Given the description of an element on the screen output the (x, y) to click on. 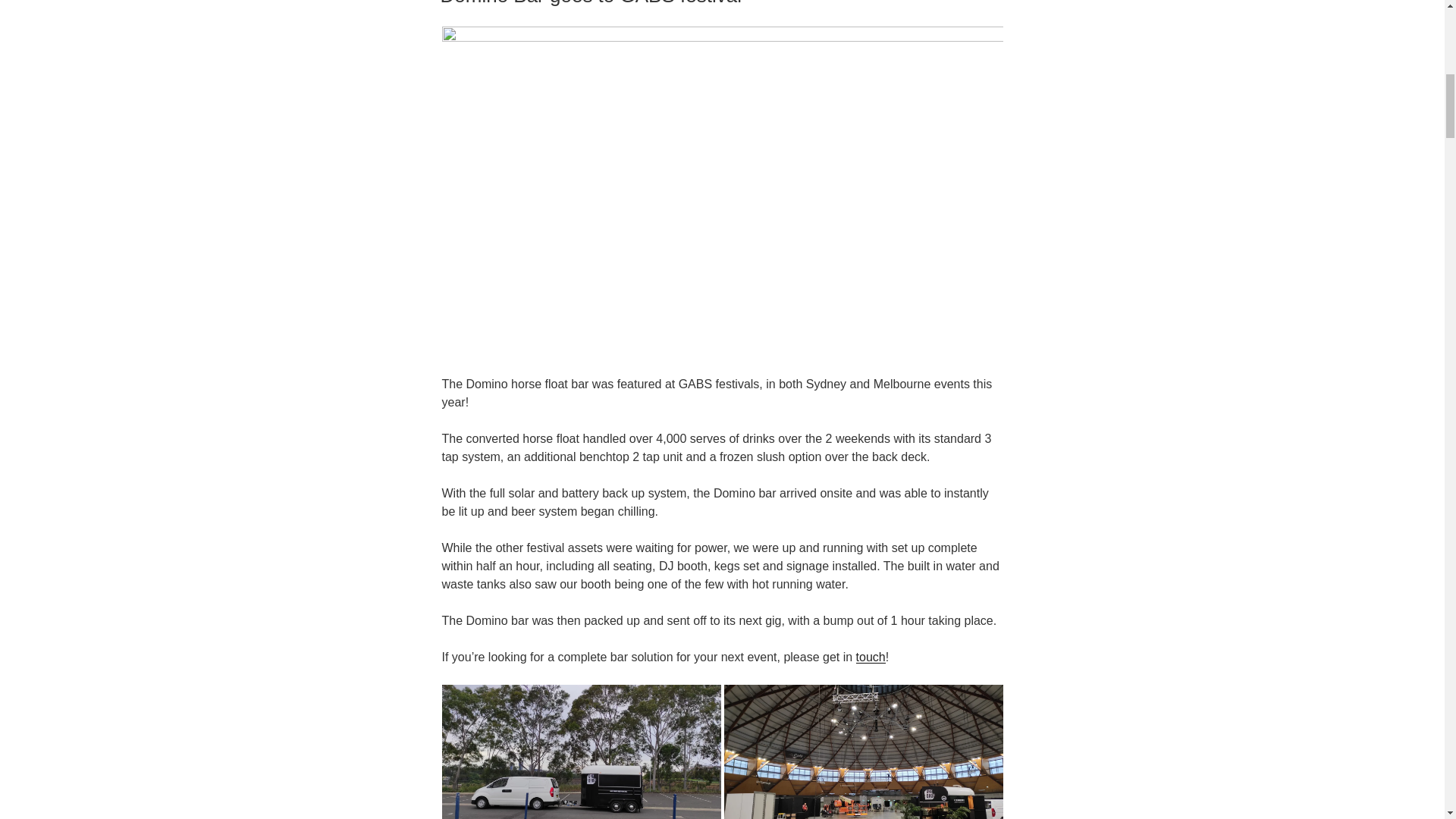
Domino Bar goes to GABS festival (590, 3)
touch (870, 656)
